Given the description of an element on the screen output the (x, y) to click on. 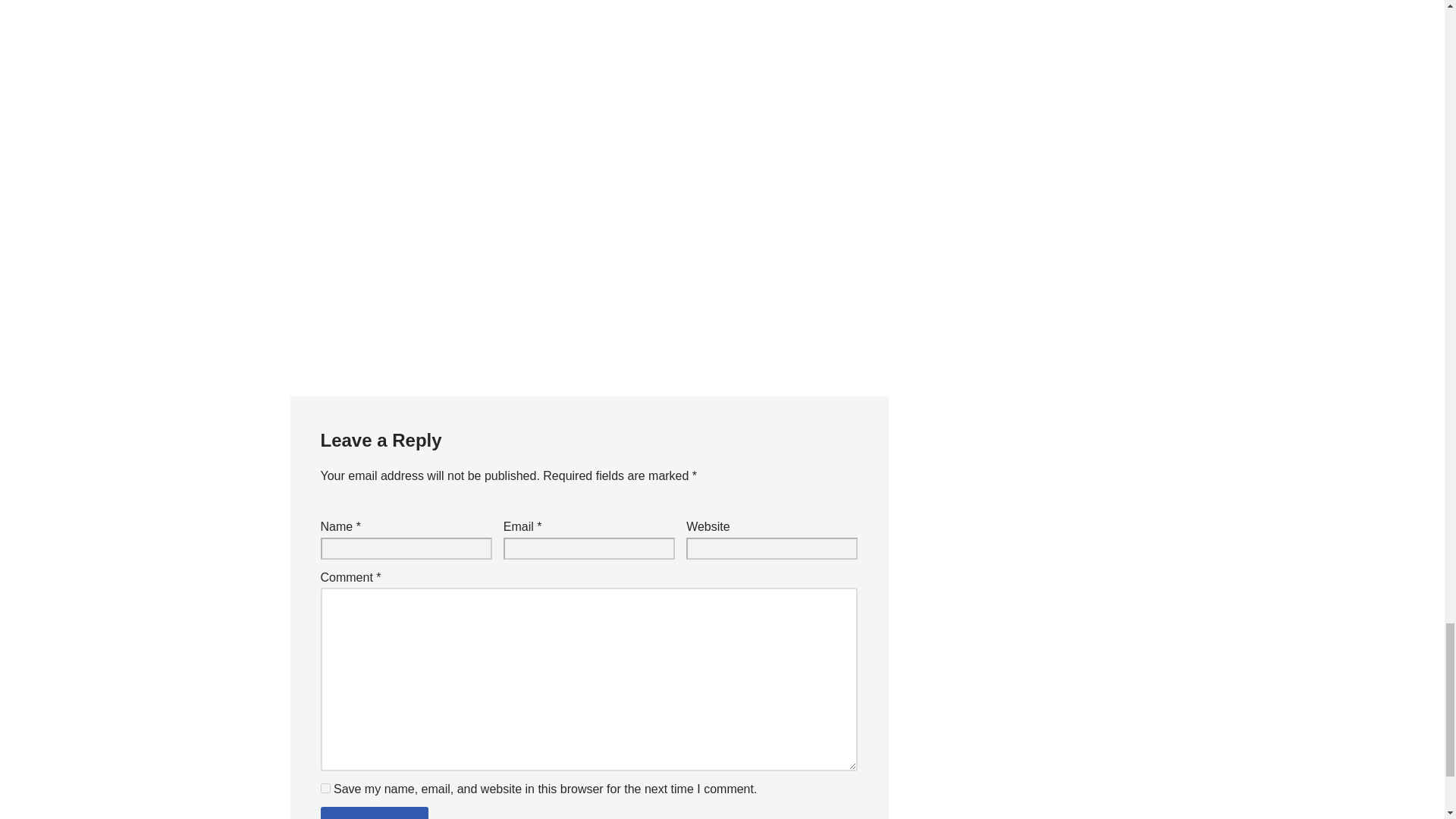
Post Comment (374, 812)
yes (325, 787)
Post Comment (374, 812)
